Given the description of an element on the screen output the (x, y) to click on. 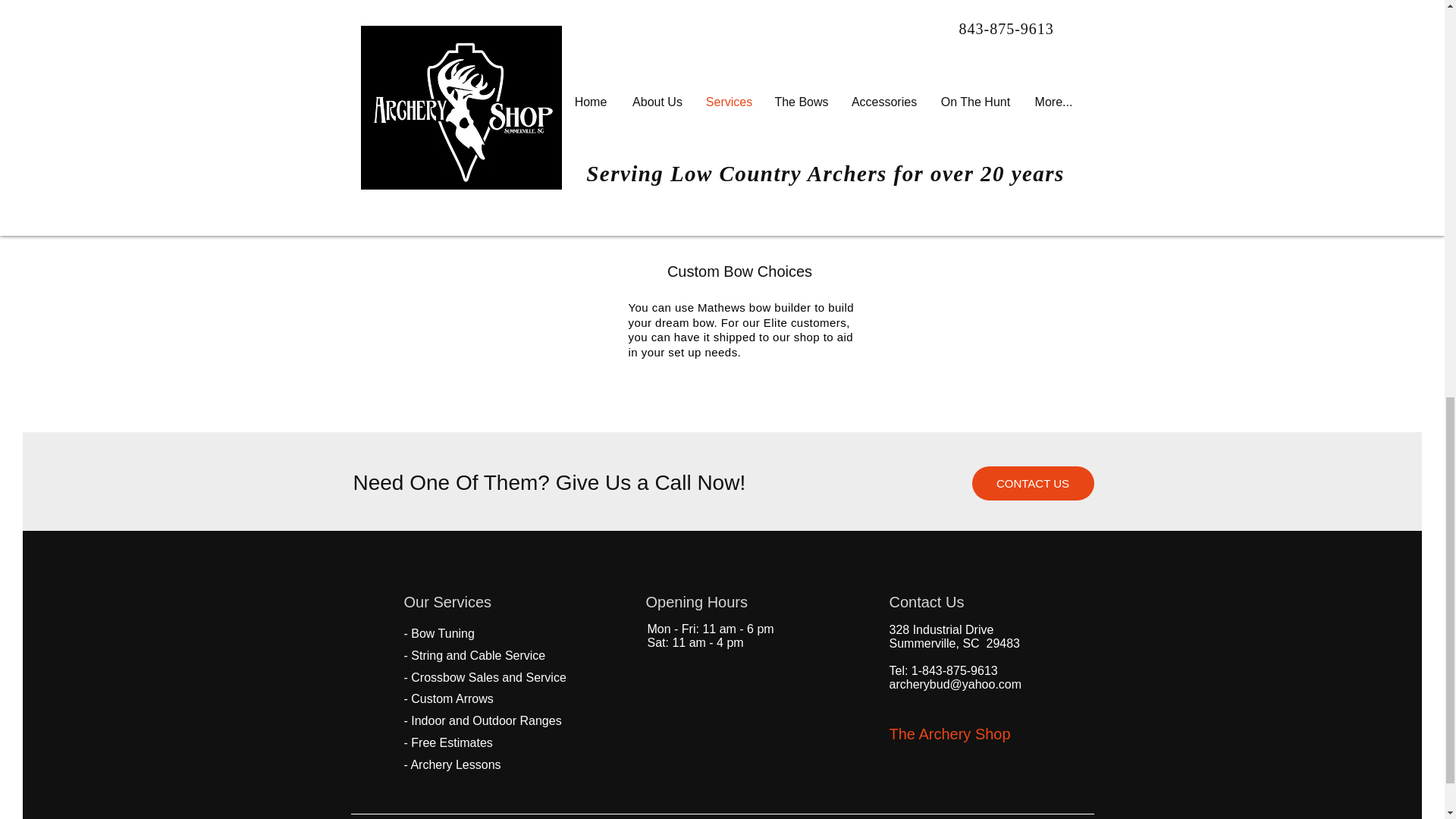
CONTACT US (1033, 483)
The Archery Shop (949, 733)
